Given the description of an element on the screen output the (x, y) to click on. 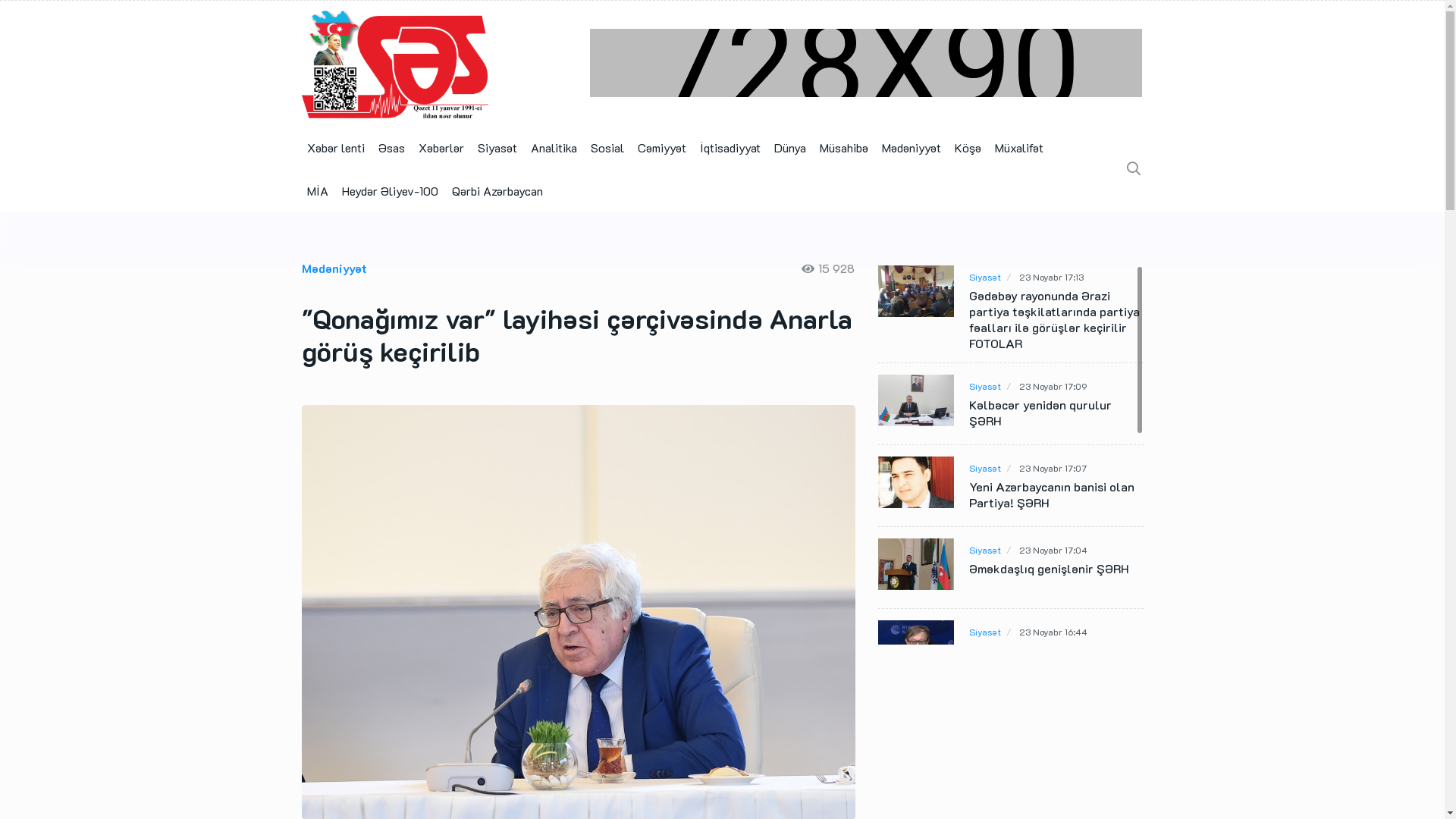
23 Noyabr 17:07 Element type: text (1052, 467)
Analitika Element type: text (552, 147)
23 Noyabr 16:44 Element type: text (1053, 631)
23 Noyabr 17:04 Element type: text (1053, 549)
Sosial Element type: text (607, 147)
23 Noyabr 15:45 Element type: text (1069, 724)
23 Noyabr 17:13 Element type: text (1051, 276)
23 Noyabr 15:42 Element type: text (1069, 806)
23 Noyabr 17:09 Element type: text (1052, 385)
